Given the description of an element on the screen output the (x, y) to click on. 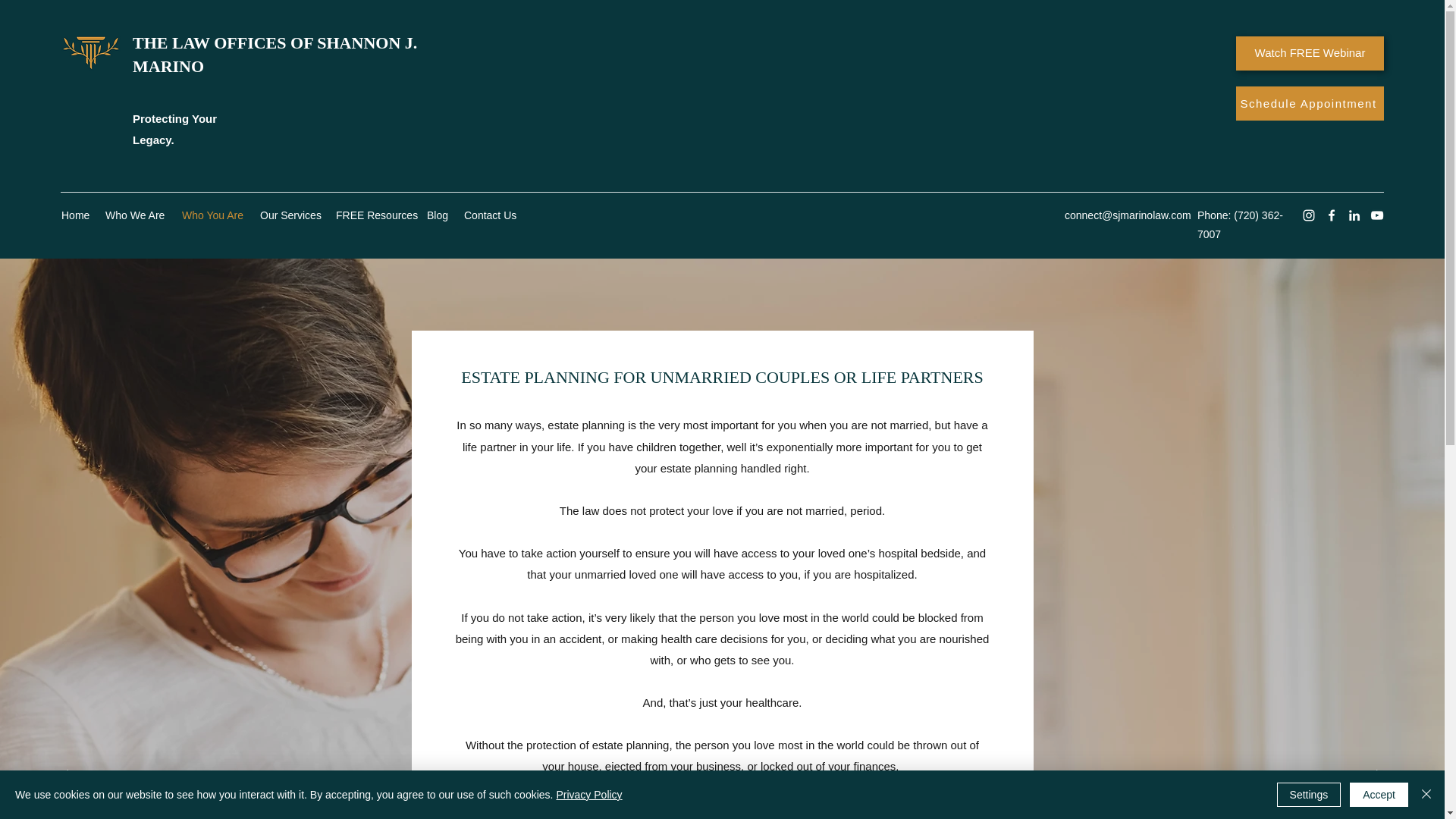
Our Services (290, 214)
Blog (438, 214)
Who You Are (212, 214)
Who We Are (135, 214)
THE LAW OFFICES OF SHANNON J. MARINO (274, 54)
Watch FREE Webinar (1310, 53)
Schedule Appointment (1310, 103)
Home (75, 214)
Contact Us (490, 214)
